Given the description of an element on the screen output the (x, y) to click on. 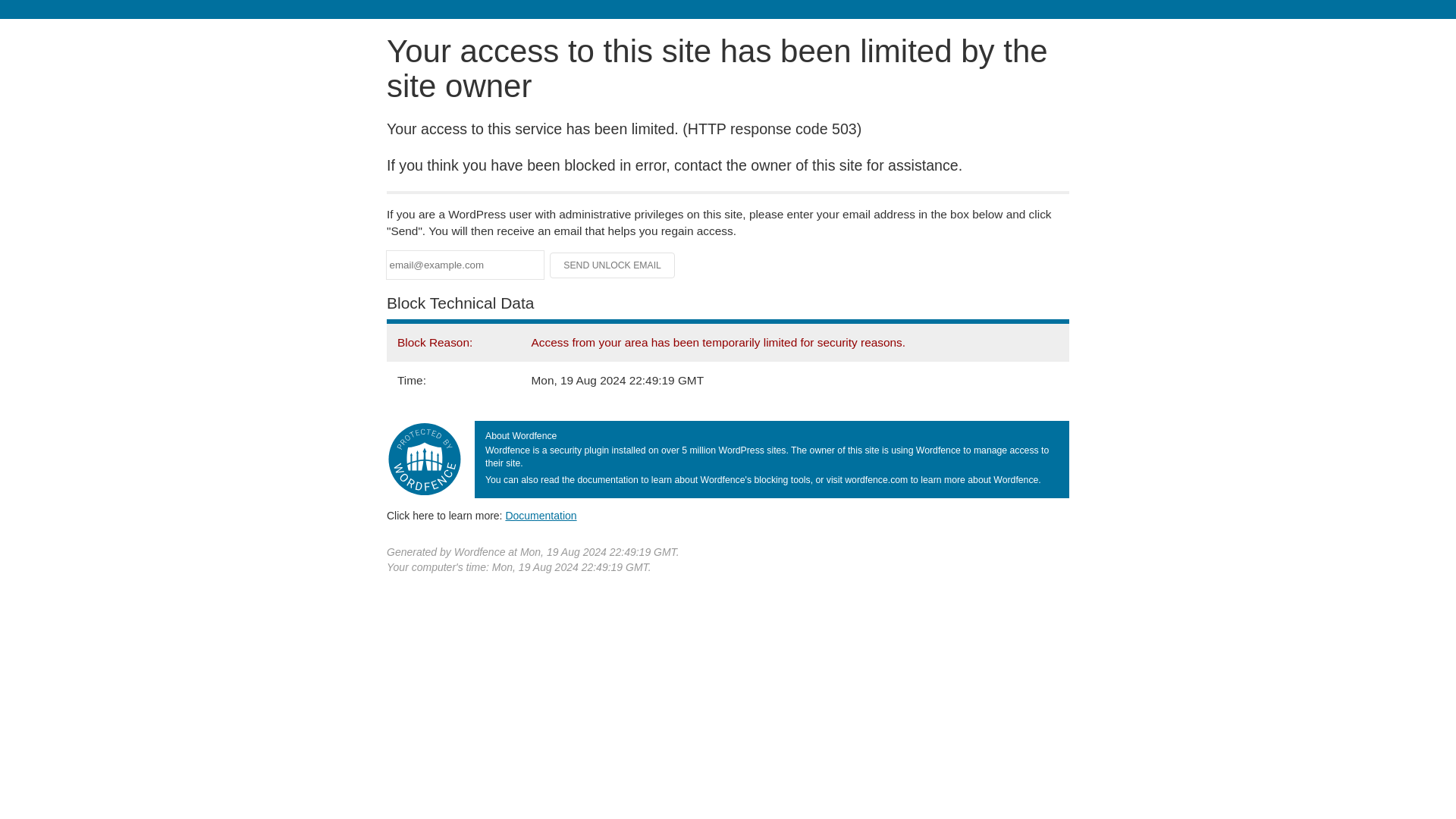
Documentation (540, 515)
Send Unlock Email (612, 265)
Send Unlock Email (612, 265)
